Given the description of an element on the screen output the (x, y) to click on. 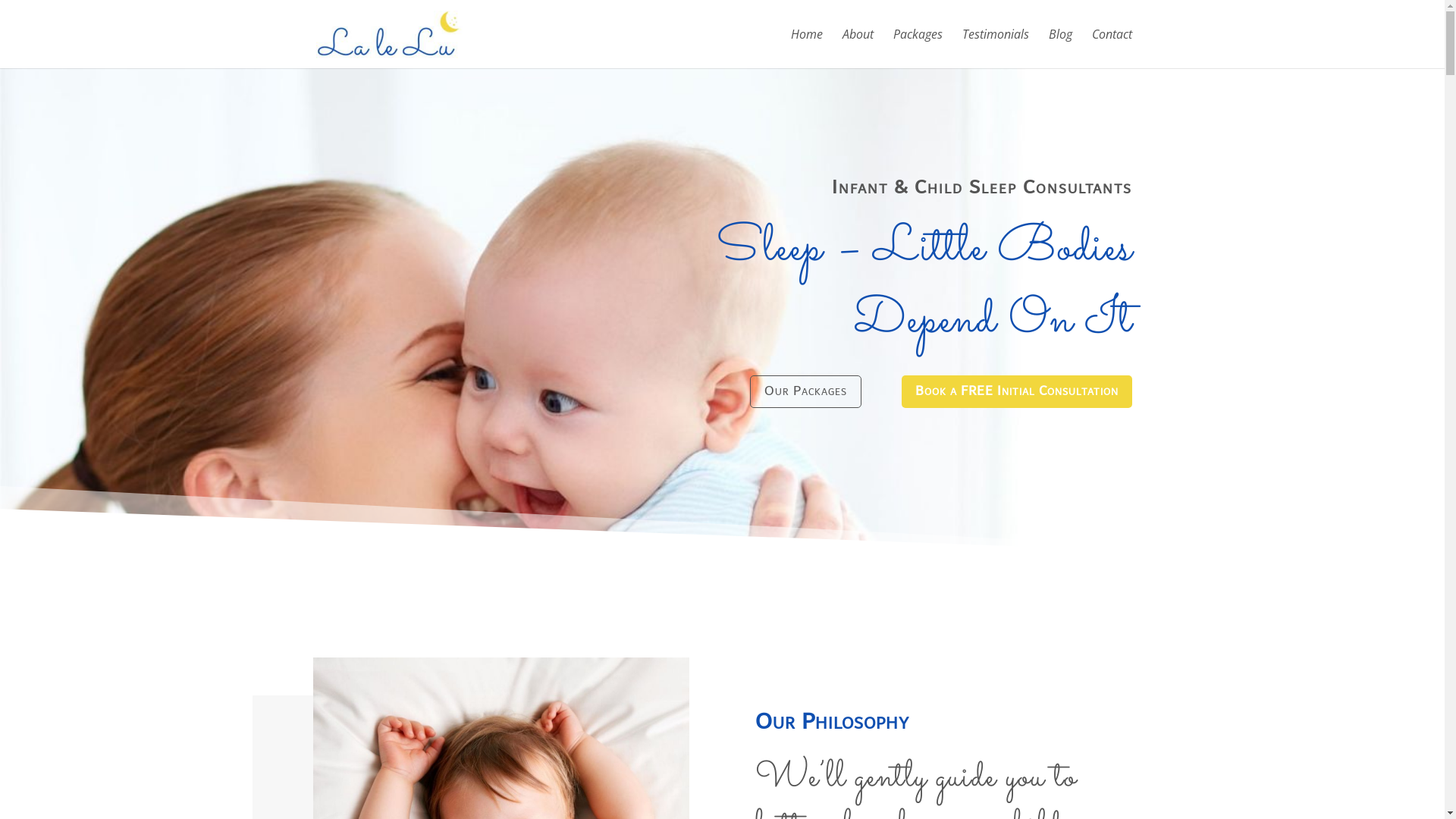
About Element type: text (856, 48)
Testimonials Element type: text (994, 48)
Contact Element type: text (1112, 48)
Book a FREE Initial Consultation Element type: text (1015, 391)
Our Packages Element type: text (804, 391)
Packages Element type: text (917, 48)
Home Element type: text (806, 48)
Blog Element type: text (1059, 48)
